Given the description of an element on the screen output the (x, y) to click on. 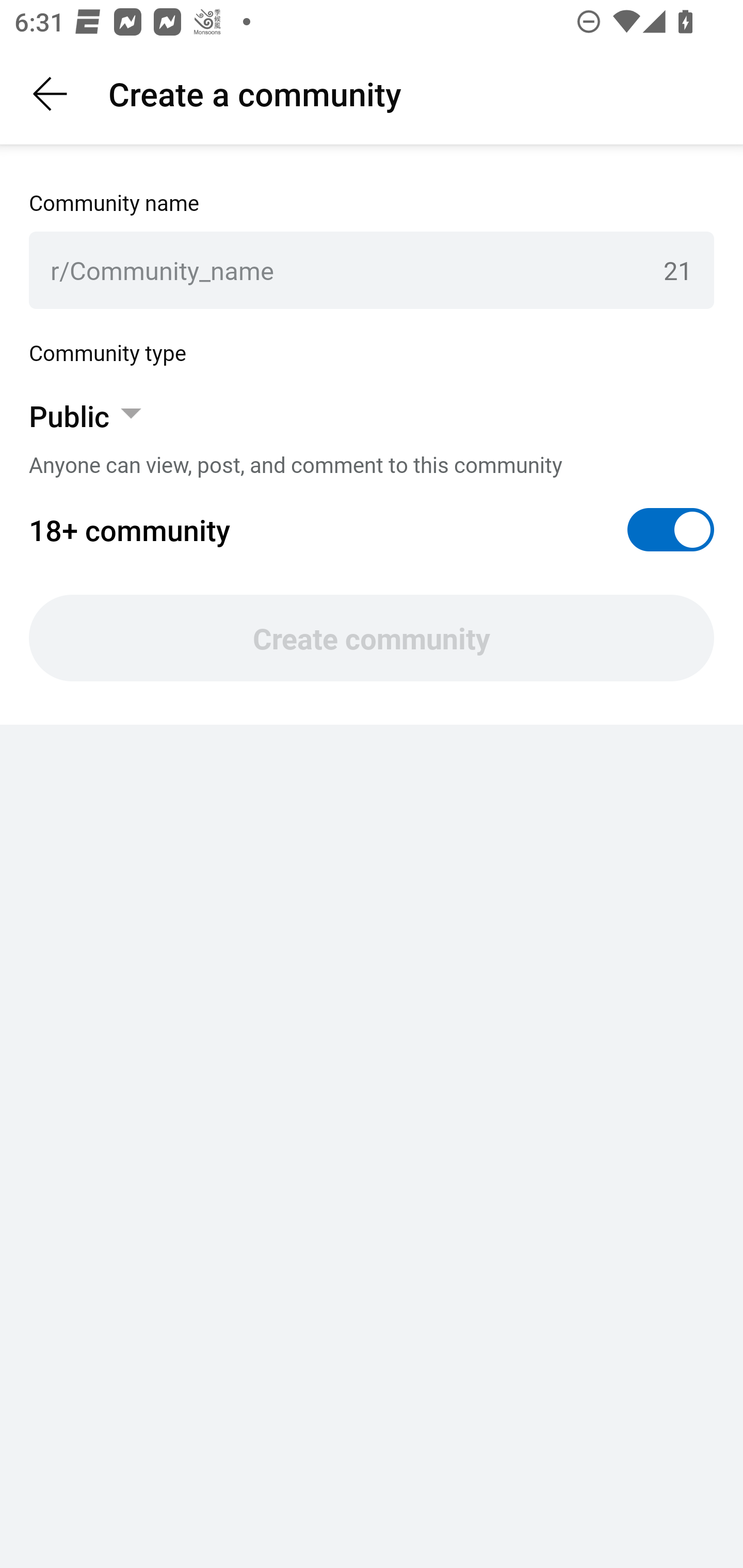
Community_name (359, 270)
18+ community (371, 529)
Create community (371, 638)
